Given the description of an element on the screen output the (x, y) to click on. 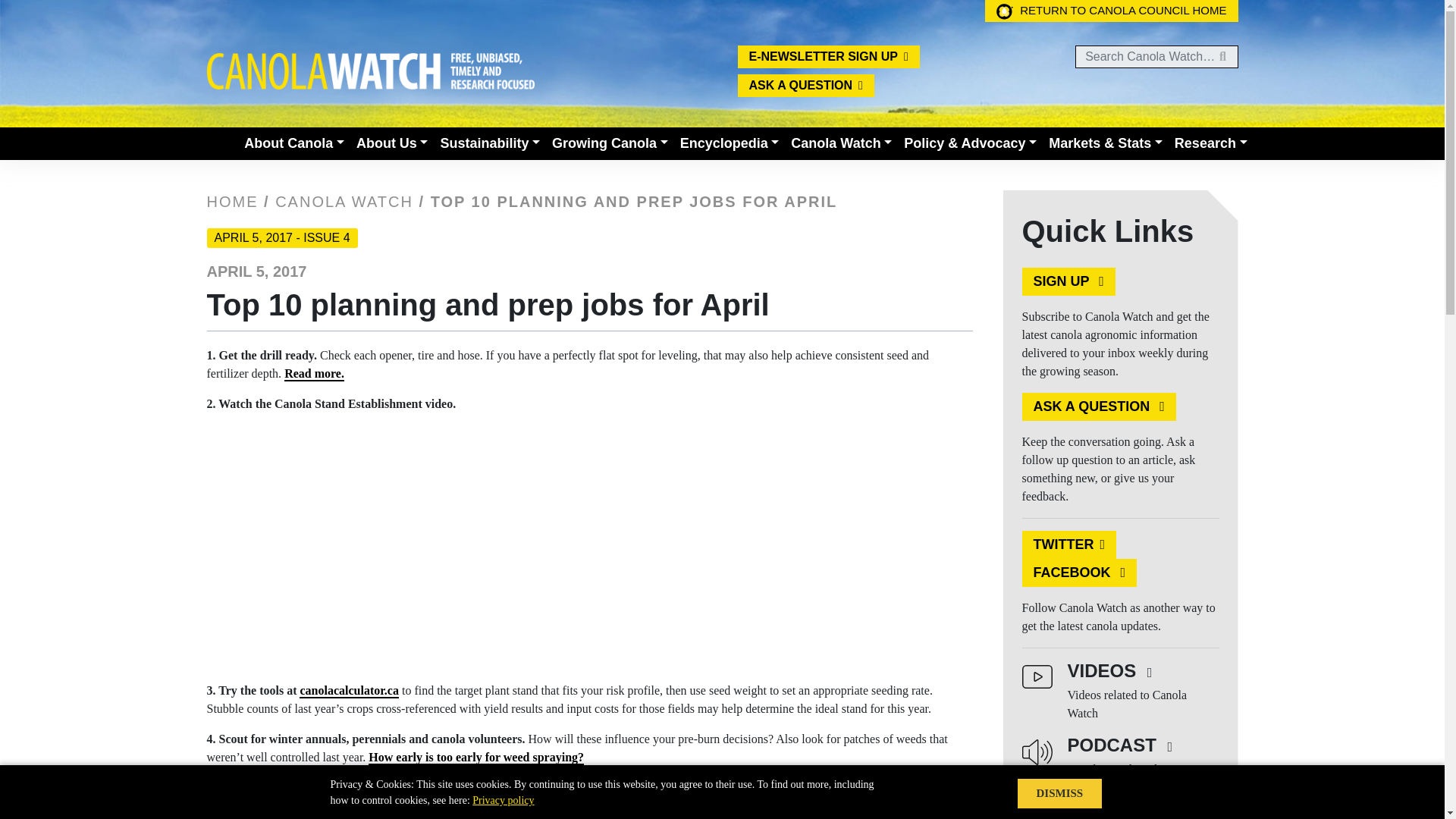
Sustainability (489, 143)
About Canola (294, 143)
Growing Canola (610, 143)
About Us (391, 143)
ASK A QUESTION (804, 85)
About Canola (294, 143)
E-NEWSLETTER SIGN UP (827, 56)
RETURN TO CANOLA COUNCIL HOME (1111, 11)
About Us (391, 143)
